Given the description of an element on the screen output the (x, y) to click on. 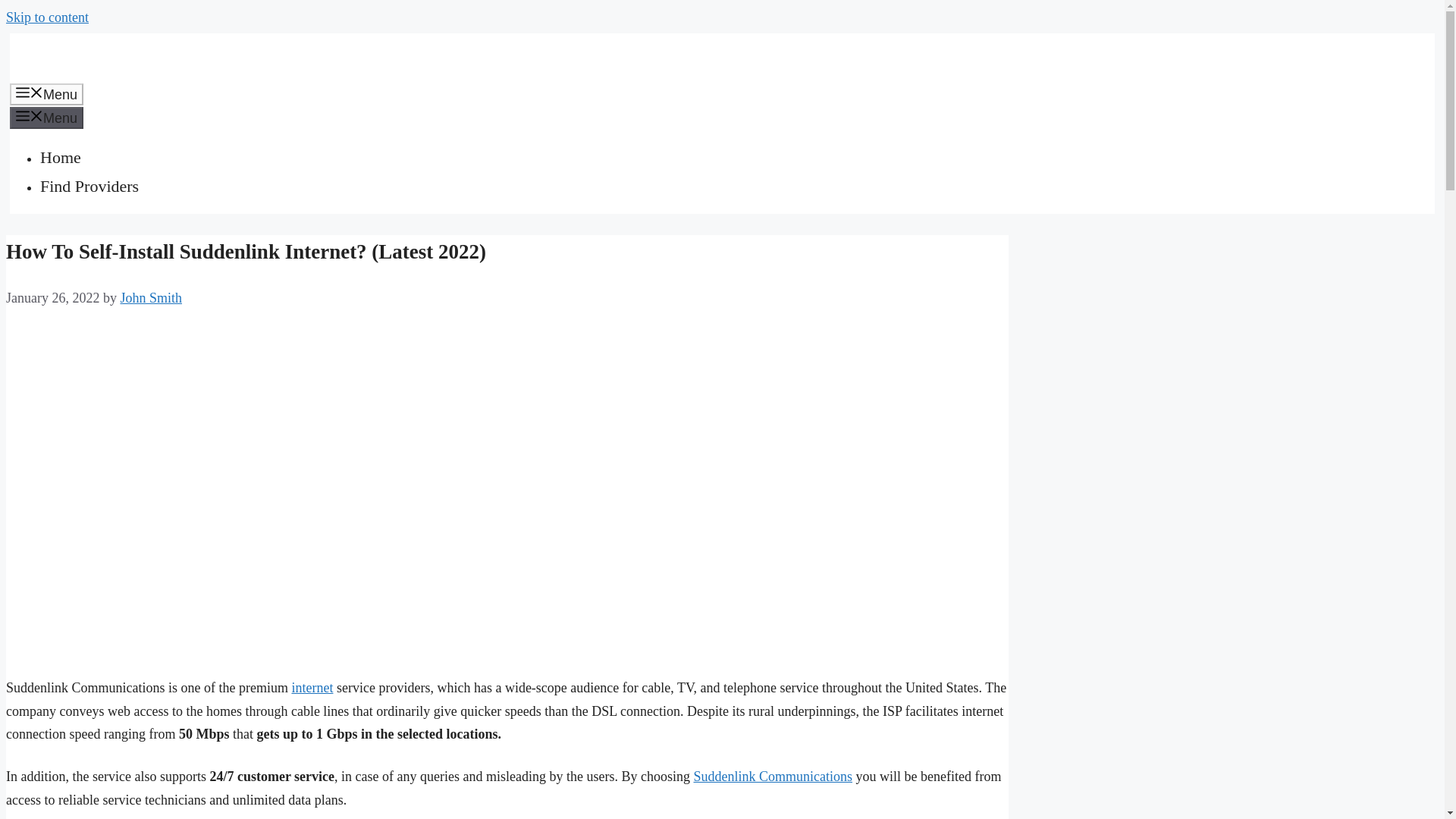
Suddenlink Communications (772, 776)
Skip to content (46, 17)
View all posts by John Smith (150, 297)
Menu (46, 117)
Home (60, 157)
Menu (46, 94)
Skip to content (46, 17)
John Smith (150, 297)
Find Providers (89, 185)
internet (312, 687)
